Given the description of an element on the screen output the (x, y) to click on. 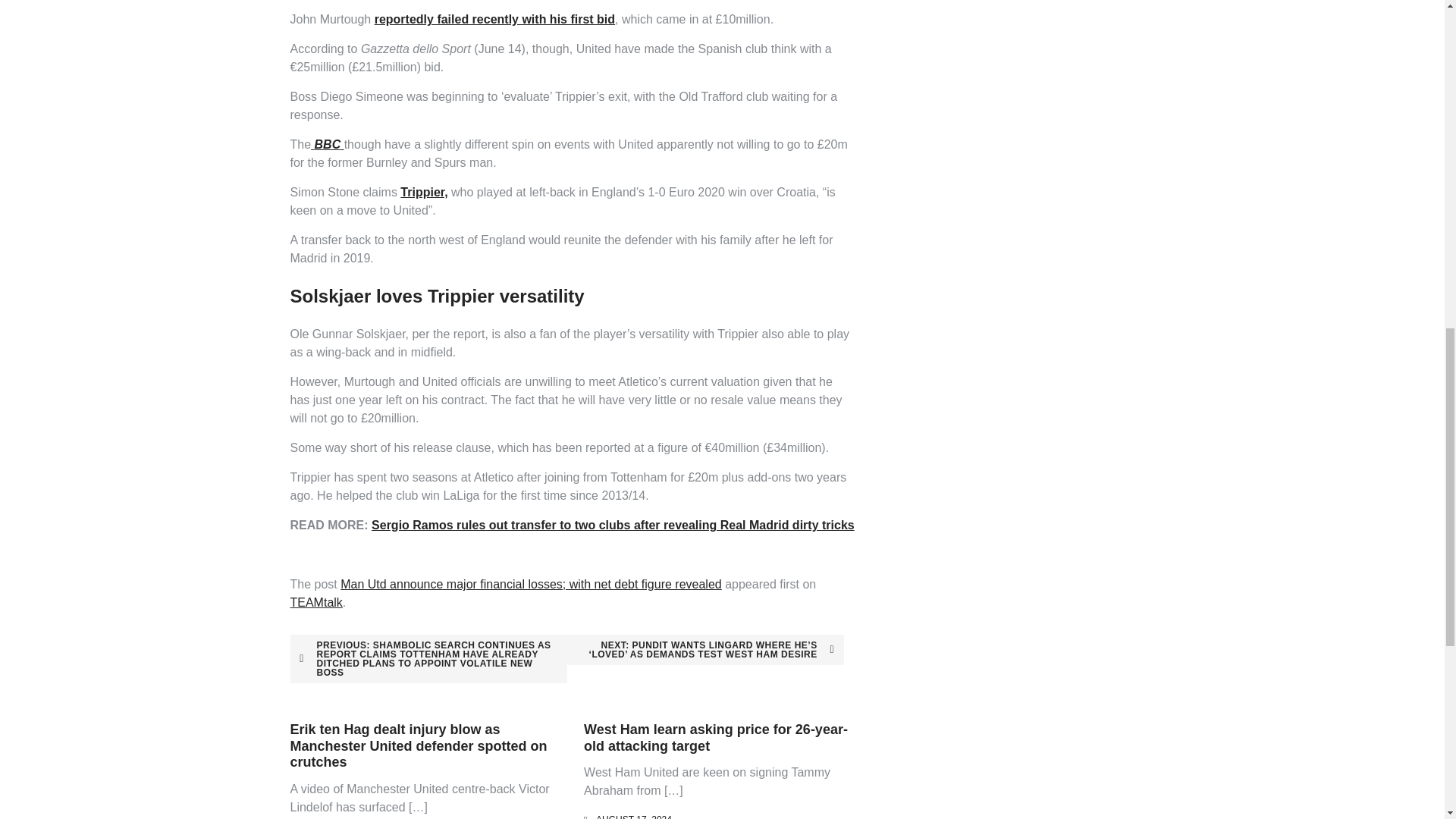
West Ham learn asking price for 26-year-old attacking target (715, 737)
TEAMtalk (315, 602)
Trippier, (423, 192)
AUGUST 17, 2024 (633, 816)
 BBC  (327, 144)
reportedly failed recently with his first bid (494, 19)
